Given the description of an element on the screen output the (x, y) to click on. 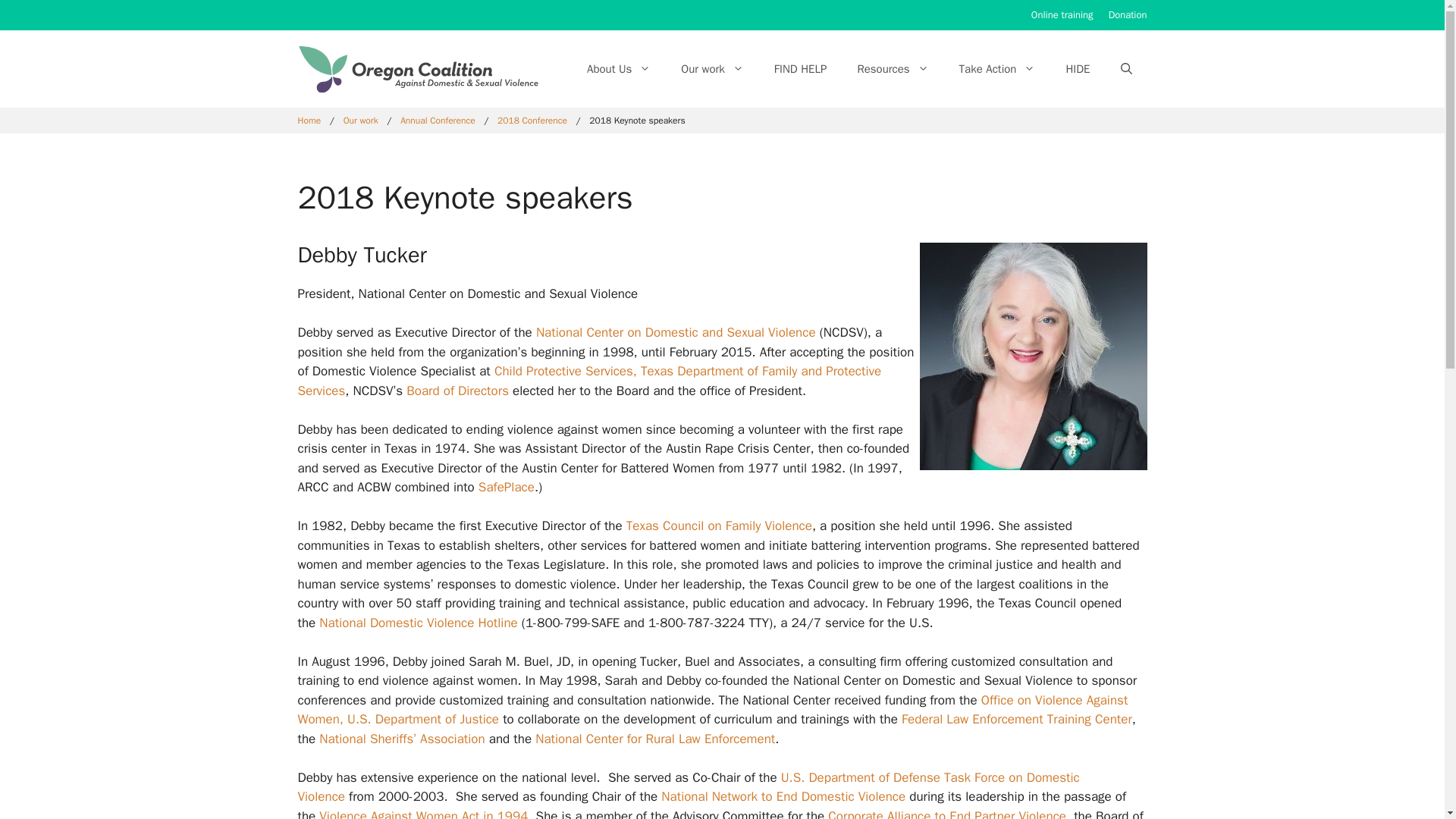
About Us (618, 68)
Our work (711, 68)
Online training (1061, 14)
Donation (1127, 14)
